Given the description of an element on the screen output the (x, y) to click on. 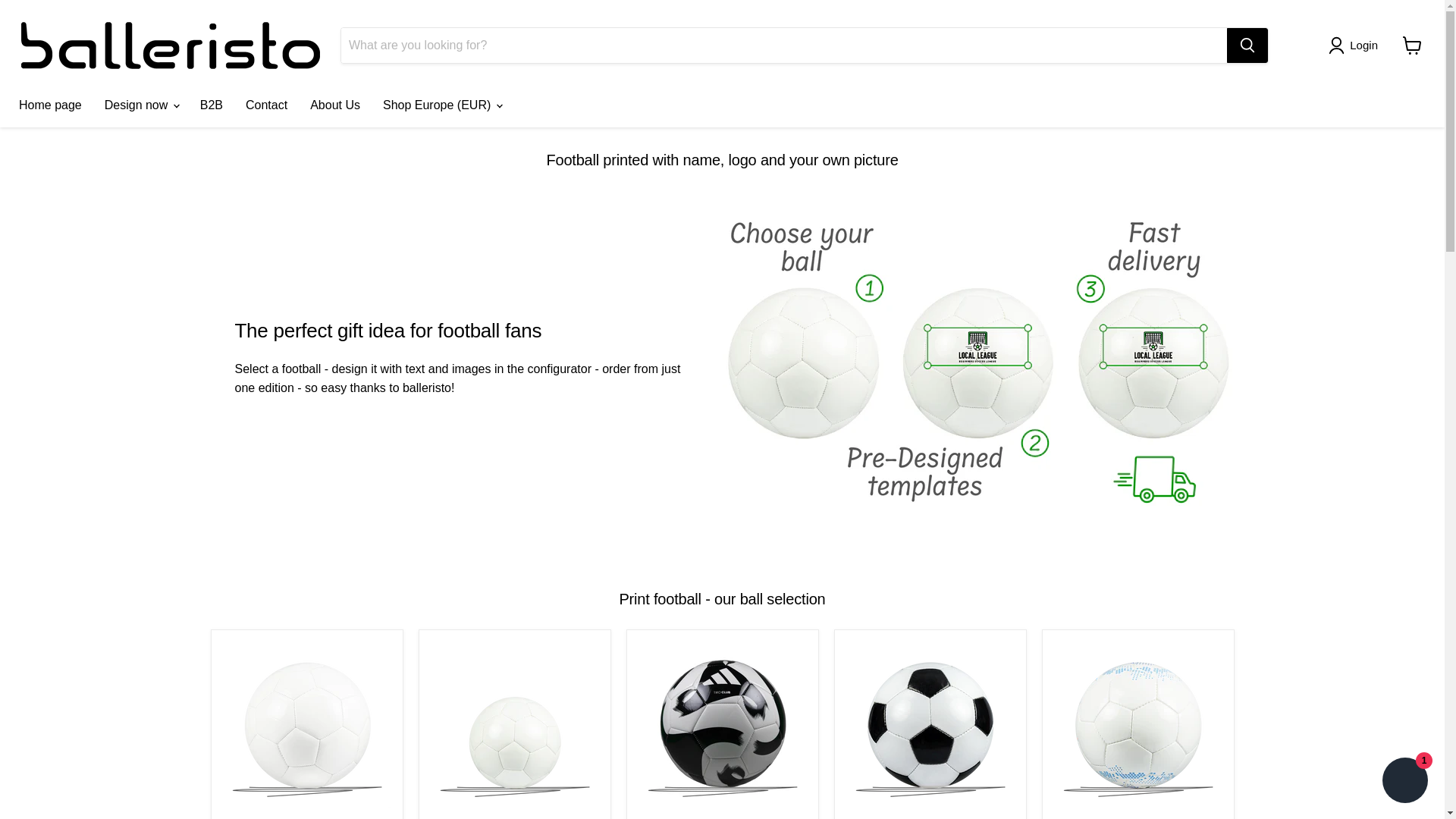
Contact (266, 105)
B2B (211, 105)
View cart (1411, 45)
About Us (334, 105)
Login (1355, 45)
Shopify online store chat (1404, 781)
Home page (50, 105)
